Given the description of an element on the screen output the (x, y) to click on. 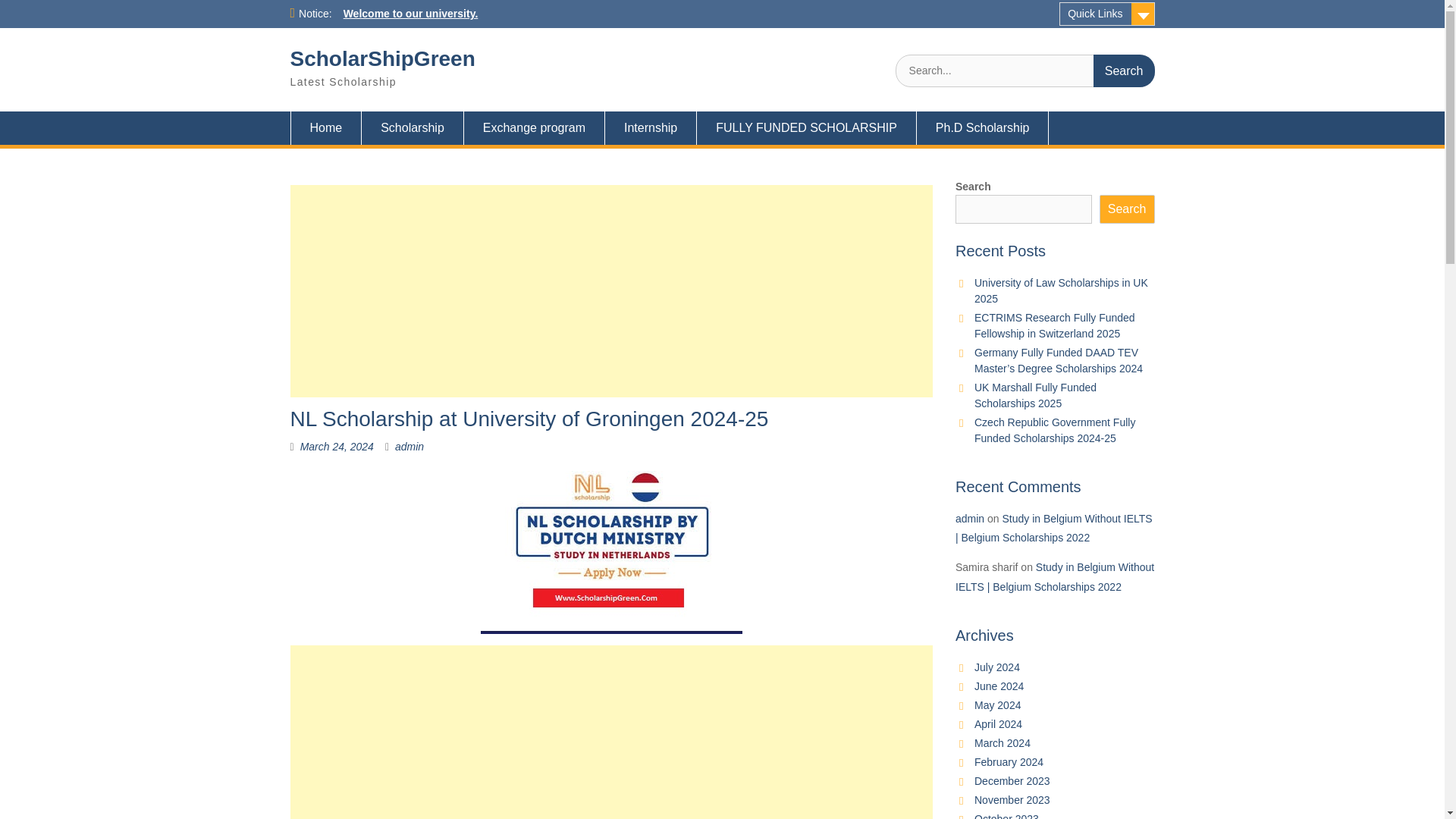
ScholarShipGreen (381, 58)
Search (1123, 70)
Quick Links (1106, 13)
Home (325, 127)
Search (1123, 70)
Internship (651, 127)
ECTRIMS Research Fully Funded Fellowship in Switzerland 2025 (1054, 325)
Exchange program (534, 127)
Search (1126, 208)
Ph.D Scholarship (983, 127)
Search for: (1024, 70)
Czech Republic Government Fully Funded Scholarships 2024-25 (1054, 430)
Advertisement (611, 732)
Search (1123, 70)
